Given the description of an element on the screen output the (x, y) to click on. 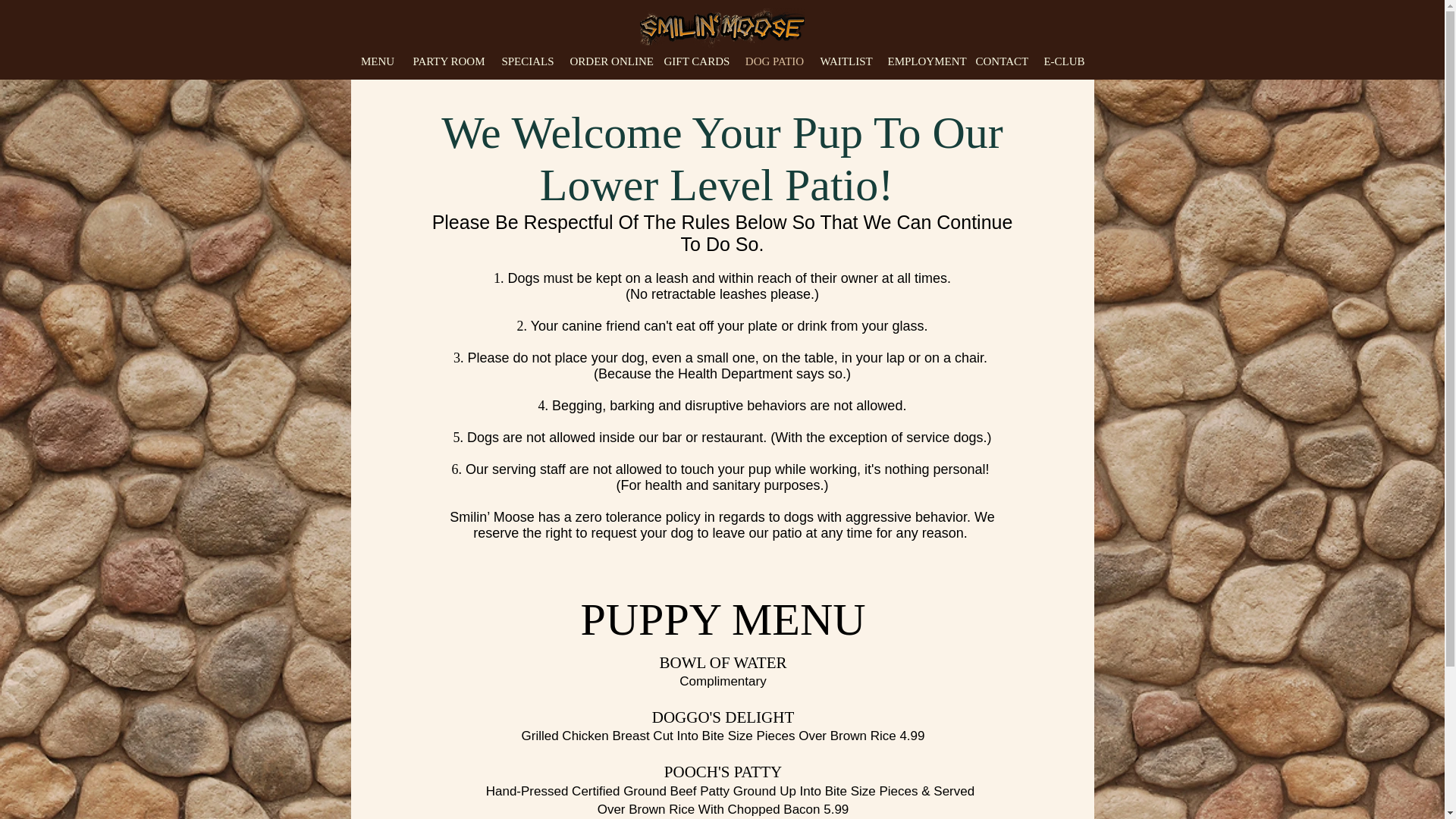
SPECIALS (527, 60)
DOG PATIO (774, 60)
CONTACT (1000, 60)
E-CLUB (1063, 60)
GIFT CARDS (696, 60)
PARTY ROOM (448, 60)
EMPLOYMENT (923, 60)
